Given the description of an element on the screen output the (x, y) to click on. 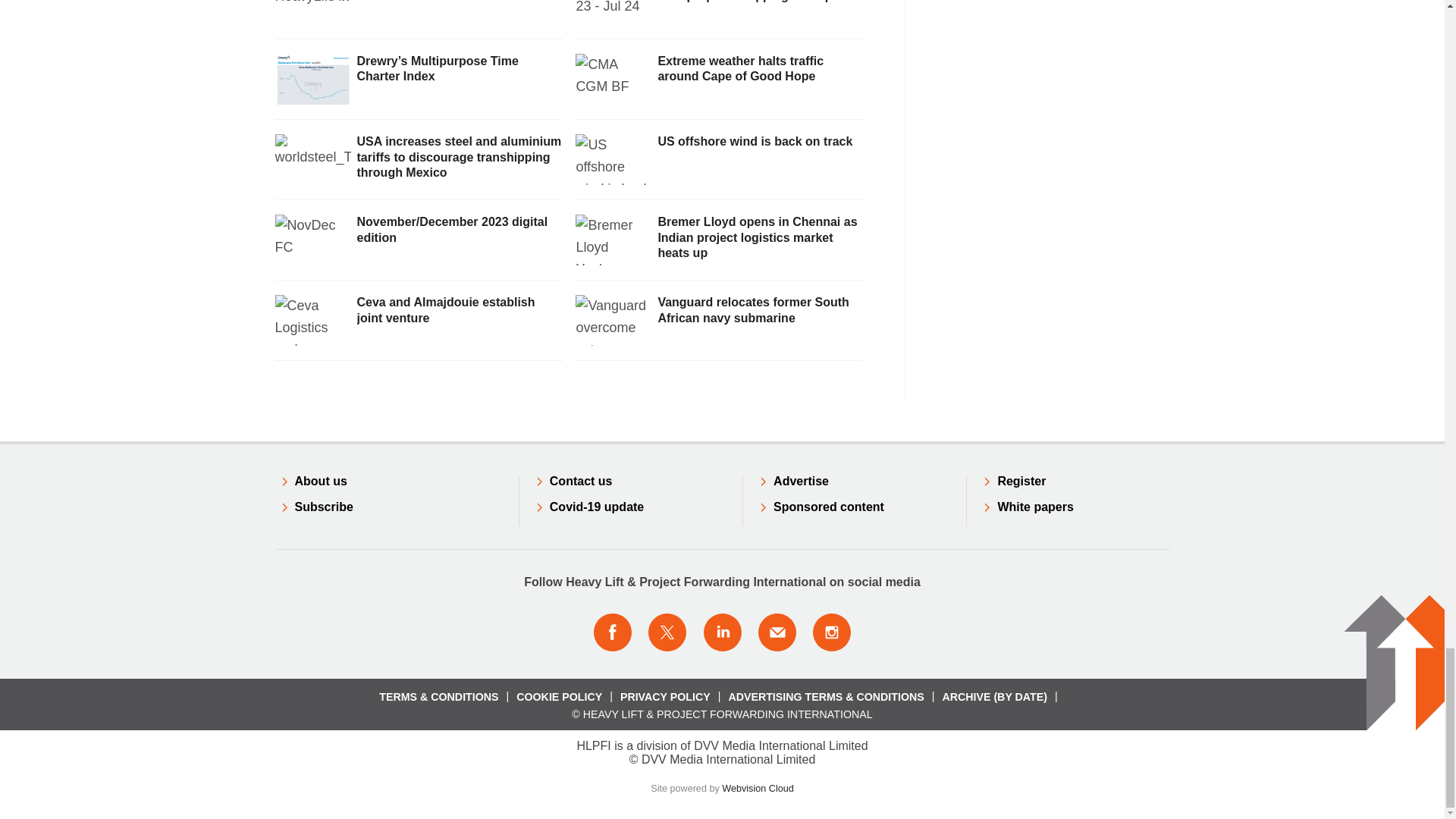
Connect with us on Instagram (831, 631)
Email us (776, 631)
Connect with us on Facebook (611, 631)
Connect with us on Twitter (667, 631)
Connect with us on LinkedIn (721, 631)
